Given the description of an element on the screen output the (x, y) to click on. 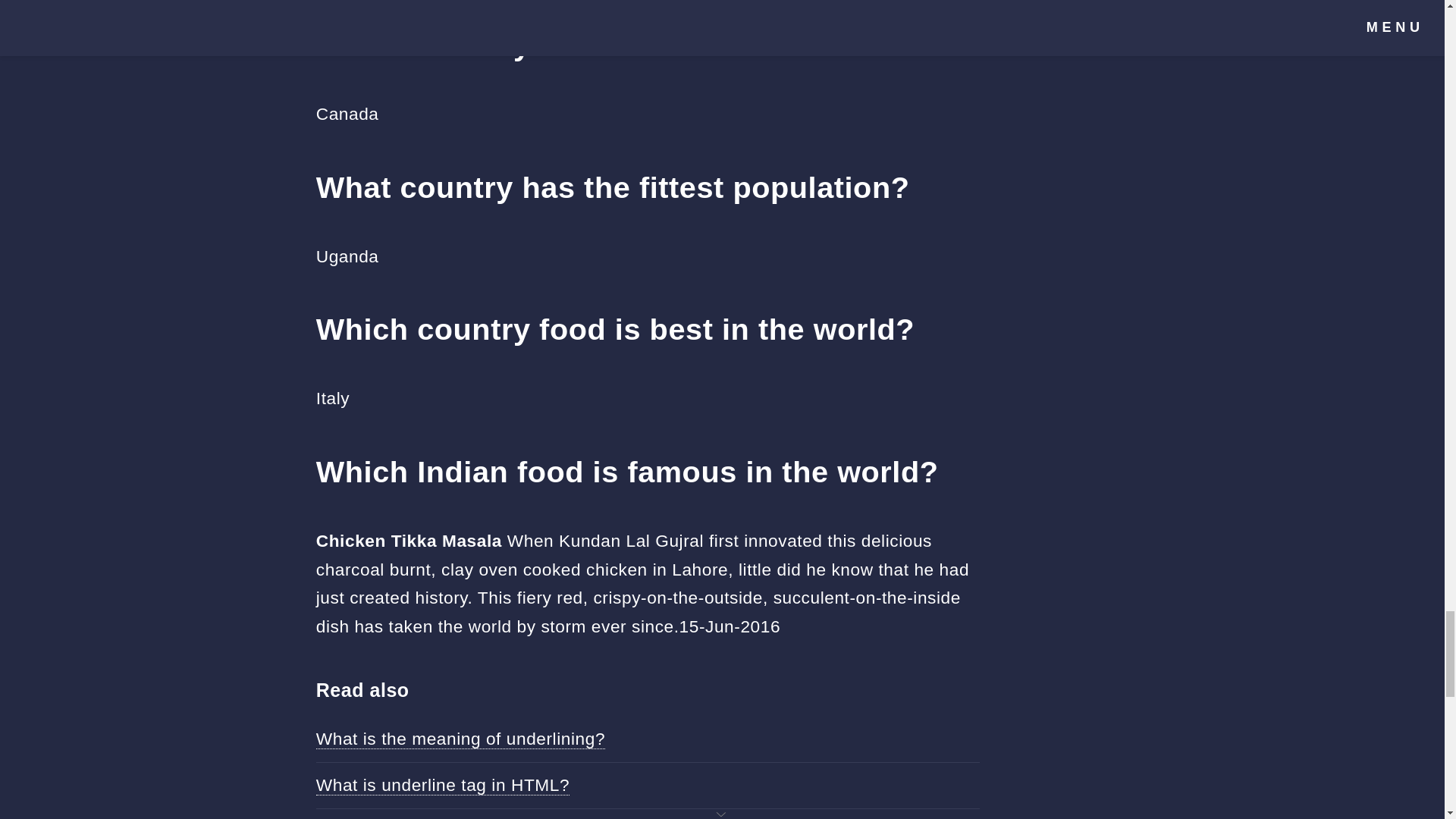
What is the meaning of underlining? (460, 738)
What is underline tag in HTML? (442, 784)
